Given the description of an element on the screen output the (x, y) to click on. 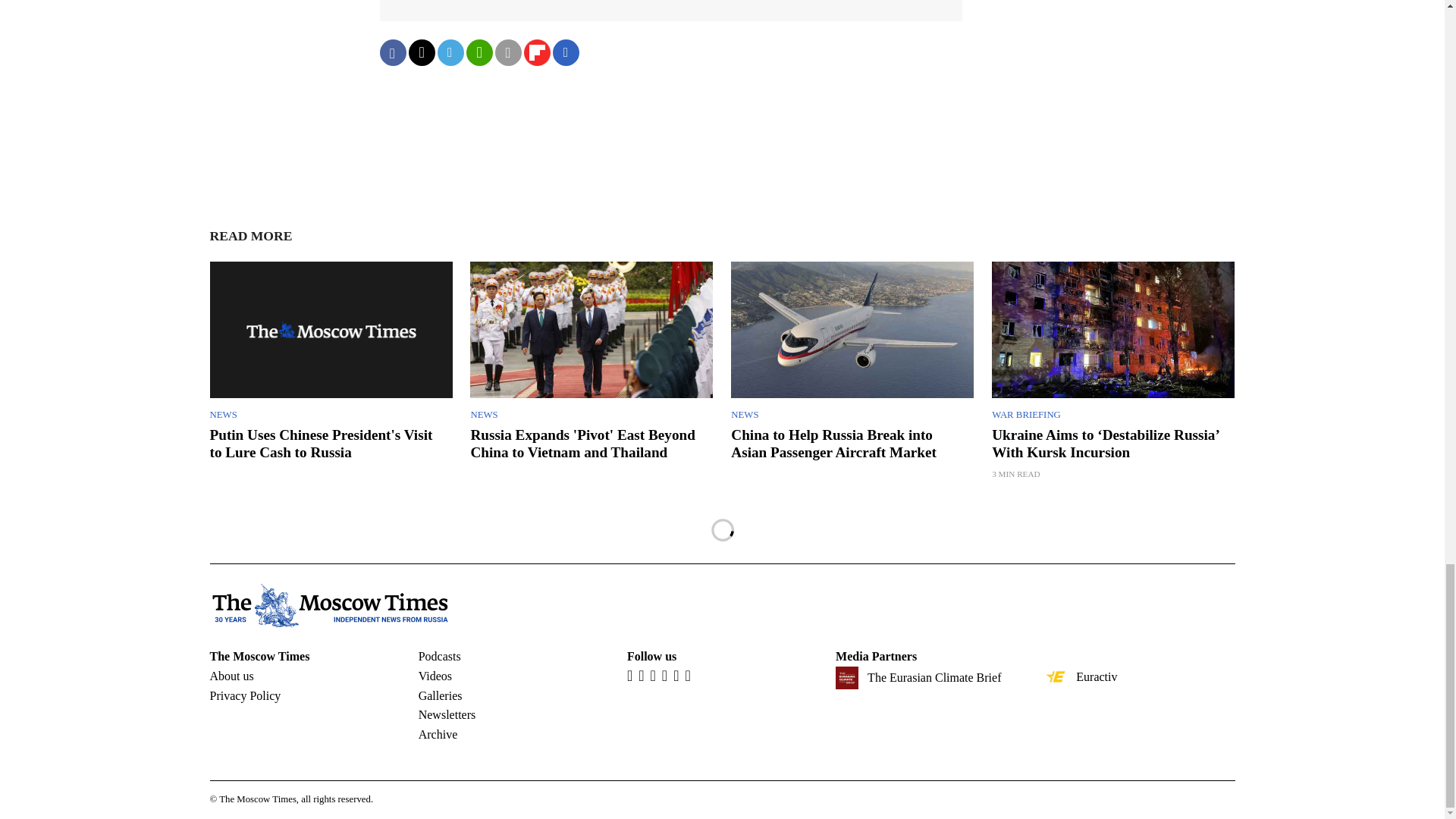
Share on Facebook (392, 52)
Share on Flipboard (536, 52)
Share on Twitter (420, 52)
Share on Telegram (449, 52)
